Given the description of an element on the screen output the (x, y) to click on. 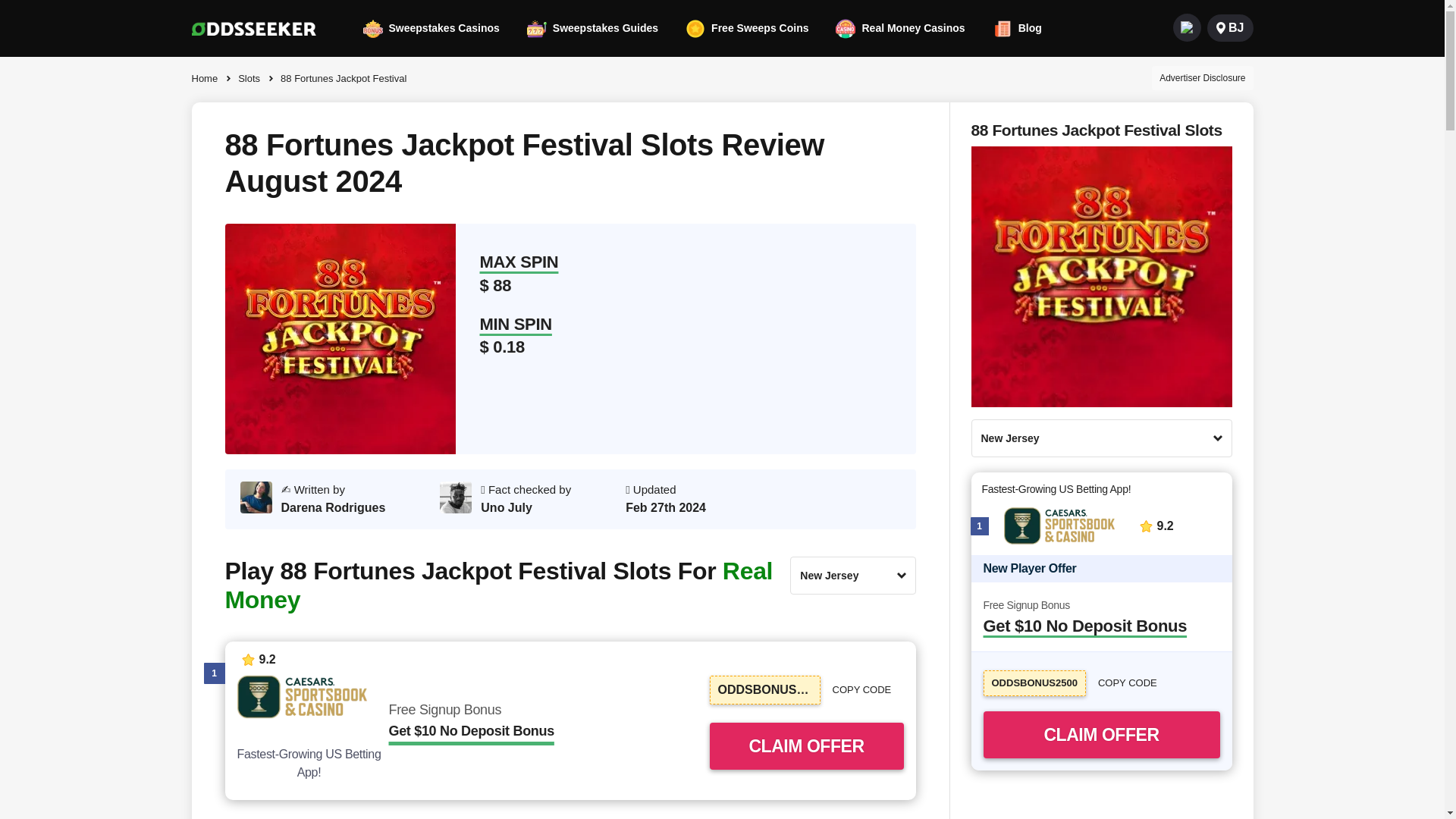
COPY CODE (868, 689)
Home (207, 77)
Blog (1017, 27)
88 Fortunes Jackpot Festival (340, 77)
CLAIM OFFER (807, 746)
Real Money Casinos (900, 27)
New Jersey (852, 575)
BJ (1229, 26)
ODDSBONUS2500 (765, 689)
